Given the description of an element on the screen output the (x, y) to click on. 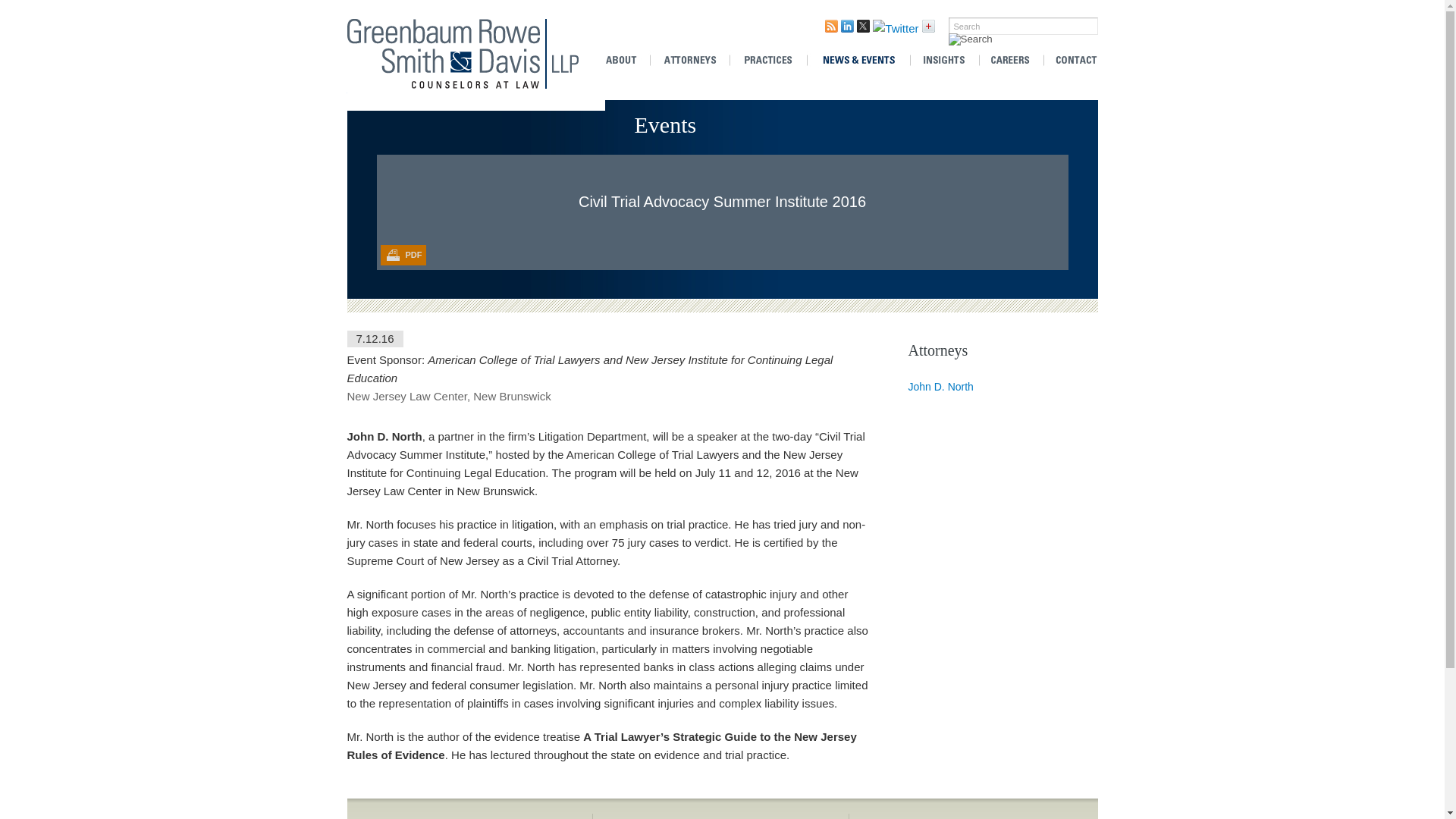
Menu (375, 8)
About (626, 60)
Attorneys (689, 60)
Main Menu (375, 8)
